Given the description of an element on the screen output the (x, y) to click on. 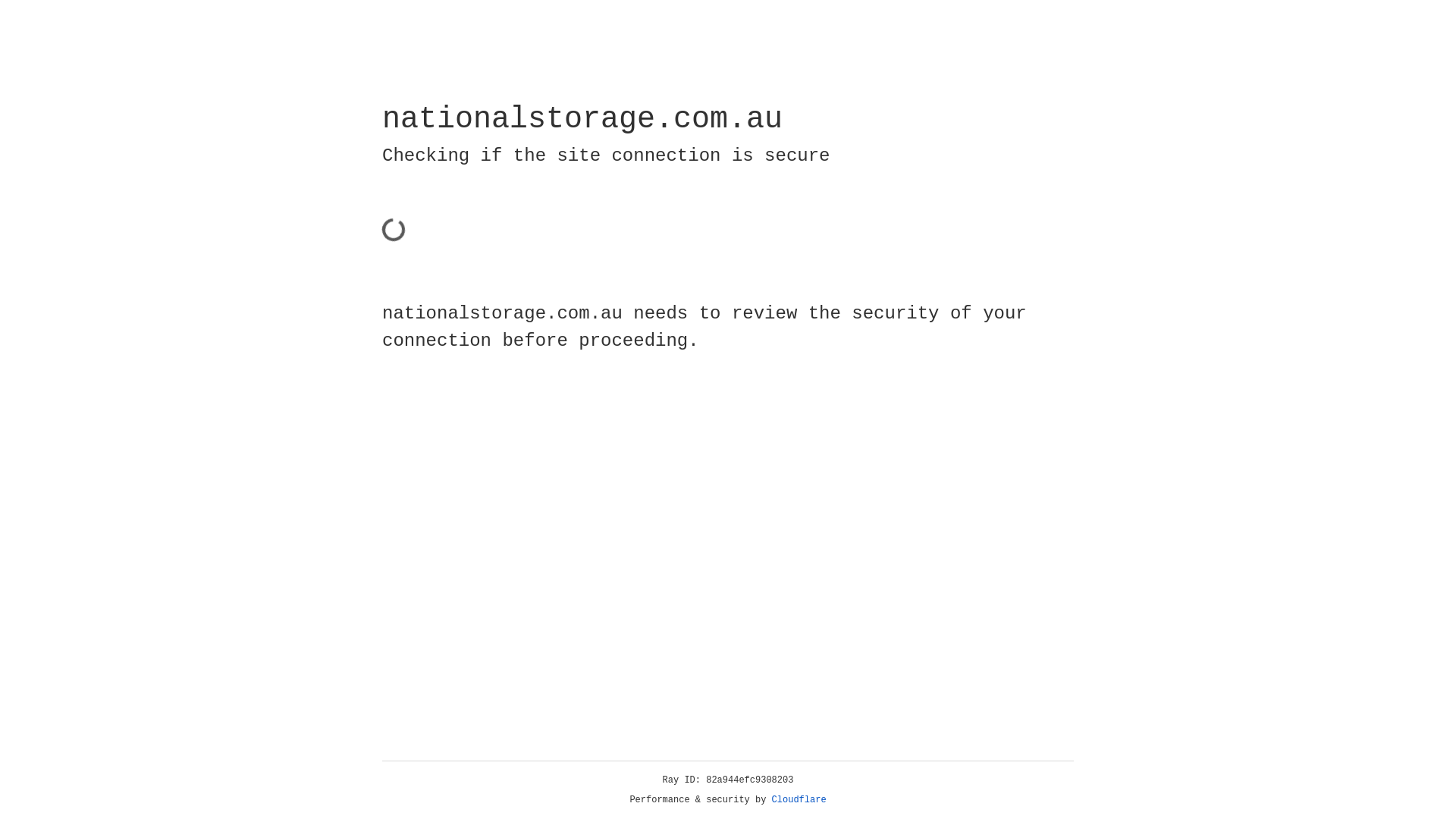
Cloudflare Element type: text (798, 799)
